Given the description of an element on the screen output the (x, y) to click on. 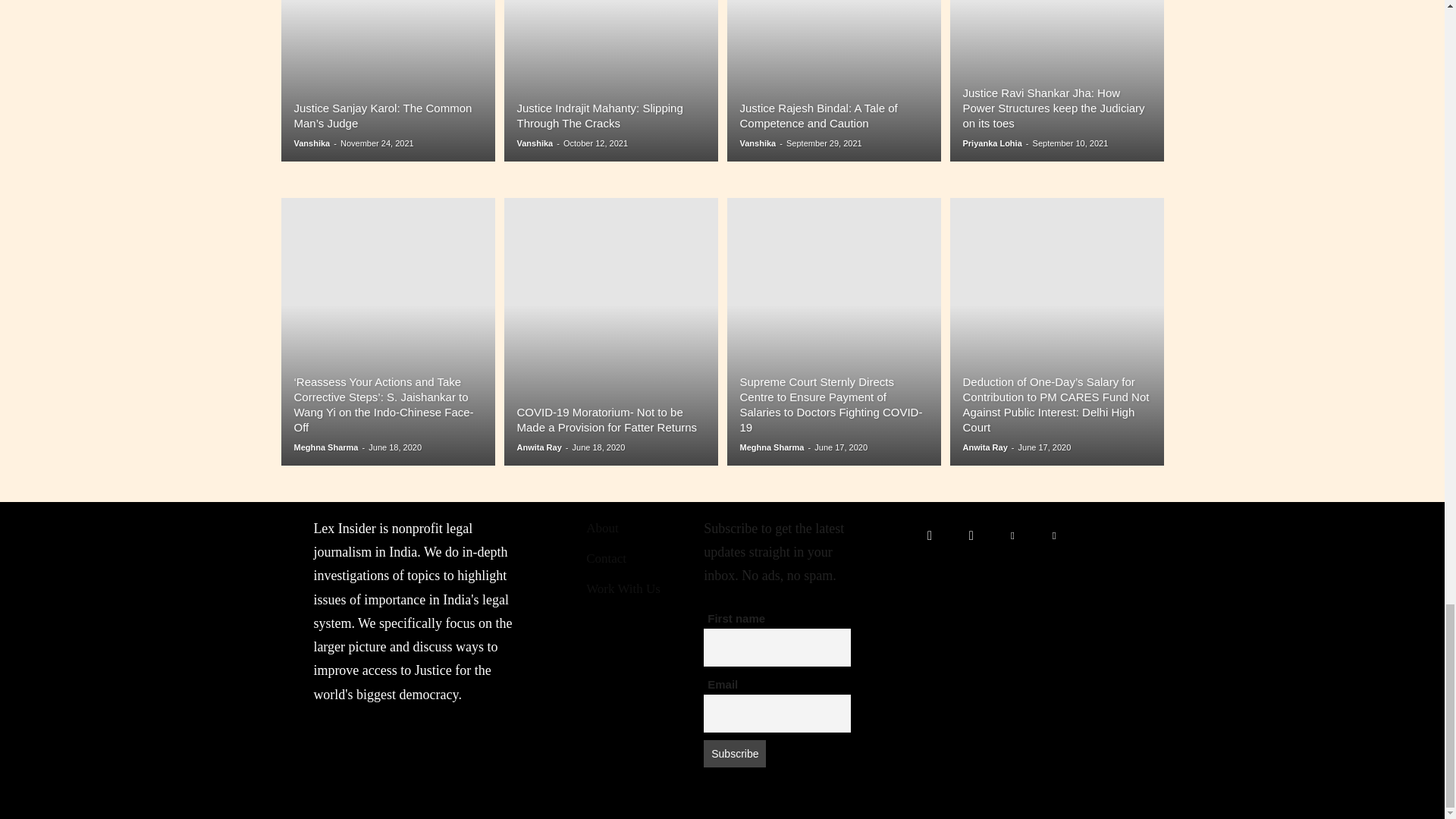
Justice Rajesh Bindal: A Tale of Competence and Caution (818, 115)
Justice Rajesh Bindal: A Tale of Competence and Caution (833, 80)
Justice Indrajit Mahanty: Slipping Through The Cracks (610, 80)
Subscribe (734, 753)
Justice Indrajit Mahanty: Slipping Through The Cracks (599, 115)
